Given the description of an element on the screen output the (x, y) to click on. 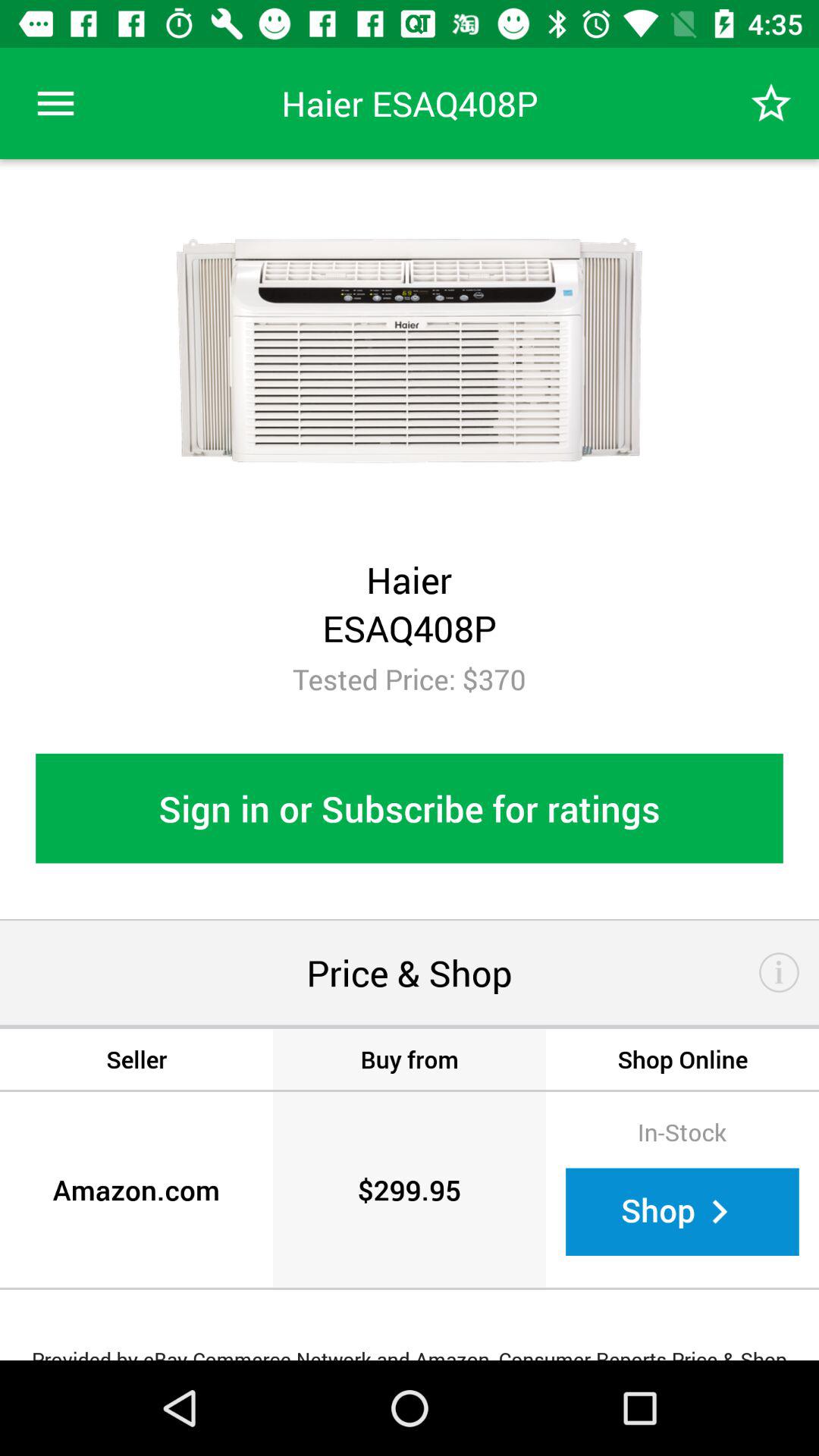
press icon above tested price: $370 (771, 103)
